Given the description of an element on the screen output the (x, y) to click on. 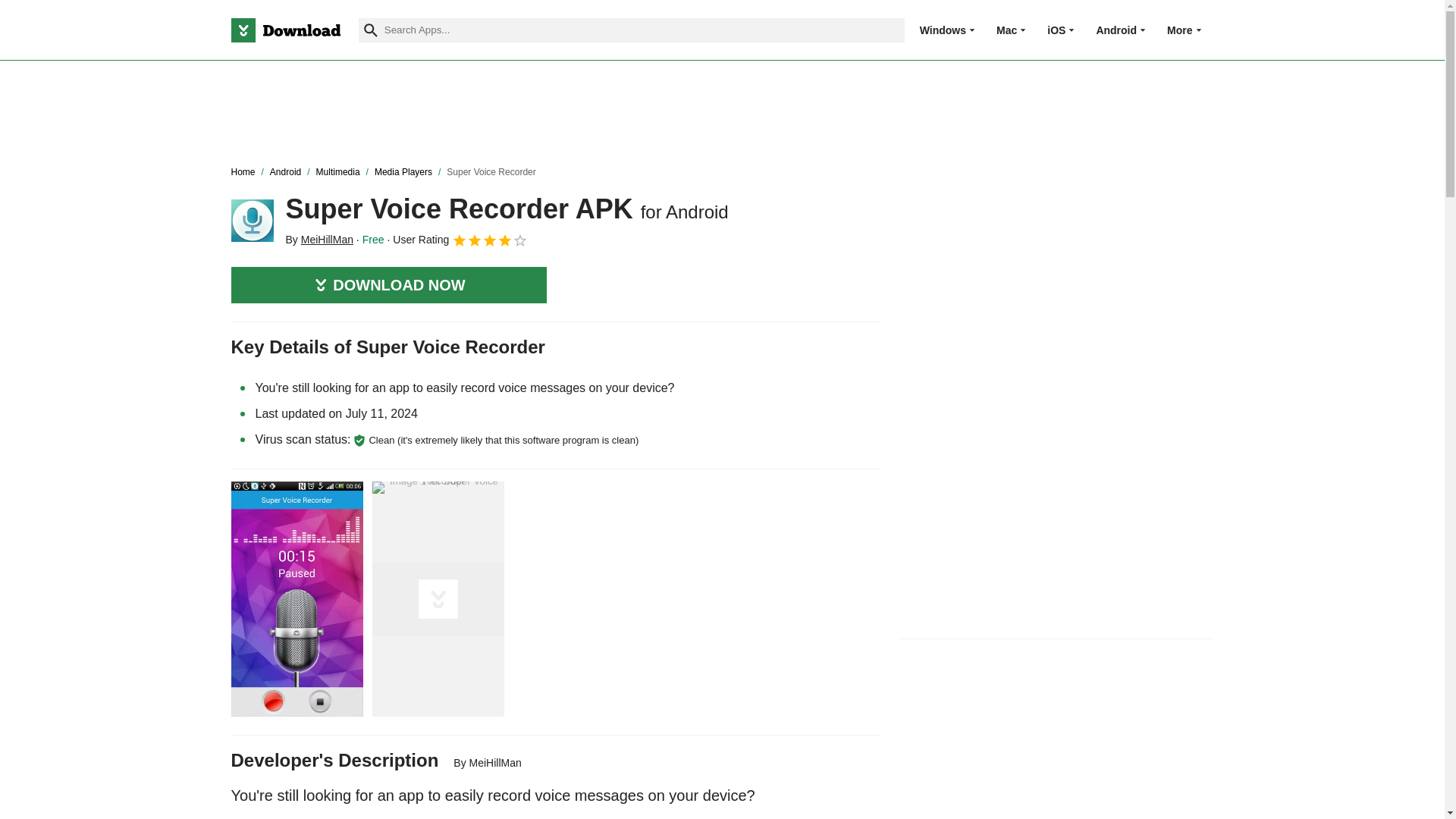
Mac (1005, 29)
Super Voice Recorder APK for Android (251, 220)
Windows (943, 29)
